Given the description of an element on the screen output the (x, y) to click on. 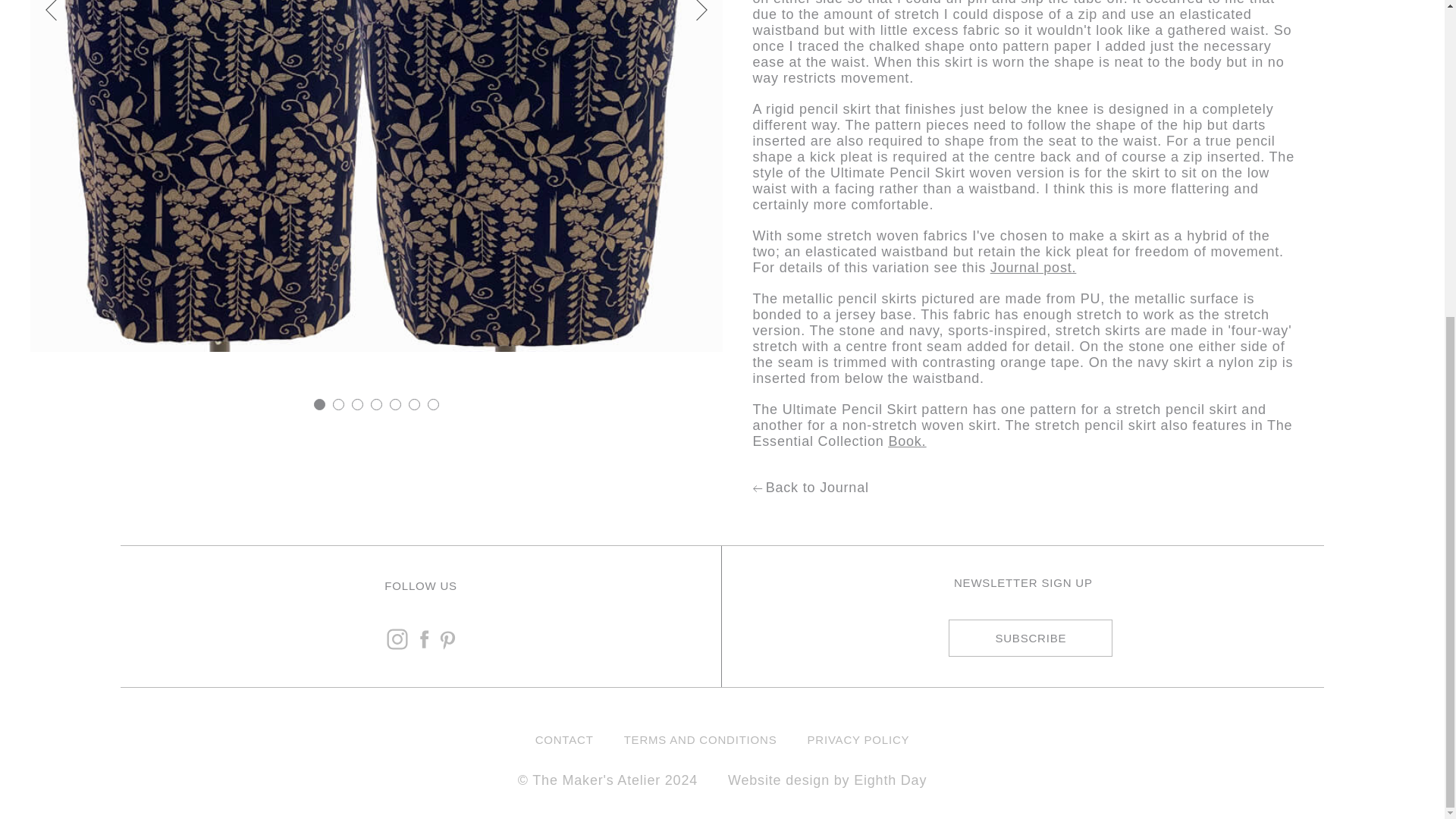
Back to Journal (1025, 487)
Book. (907, 441)
TERMS AND CONDITIONS (700, 739)
Journal post (1030, 267)
SUBSCRIBE (1030, 637)
Website design by Eighth Day (827, 780)
CONTACT (564, 739)
PRIVACY POLICY (857, 739)
